Given the description of an element on the screen output the (x, y) to click on. 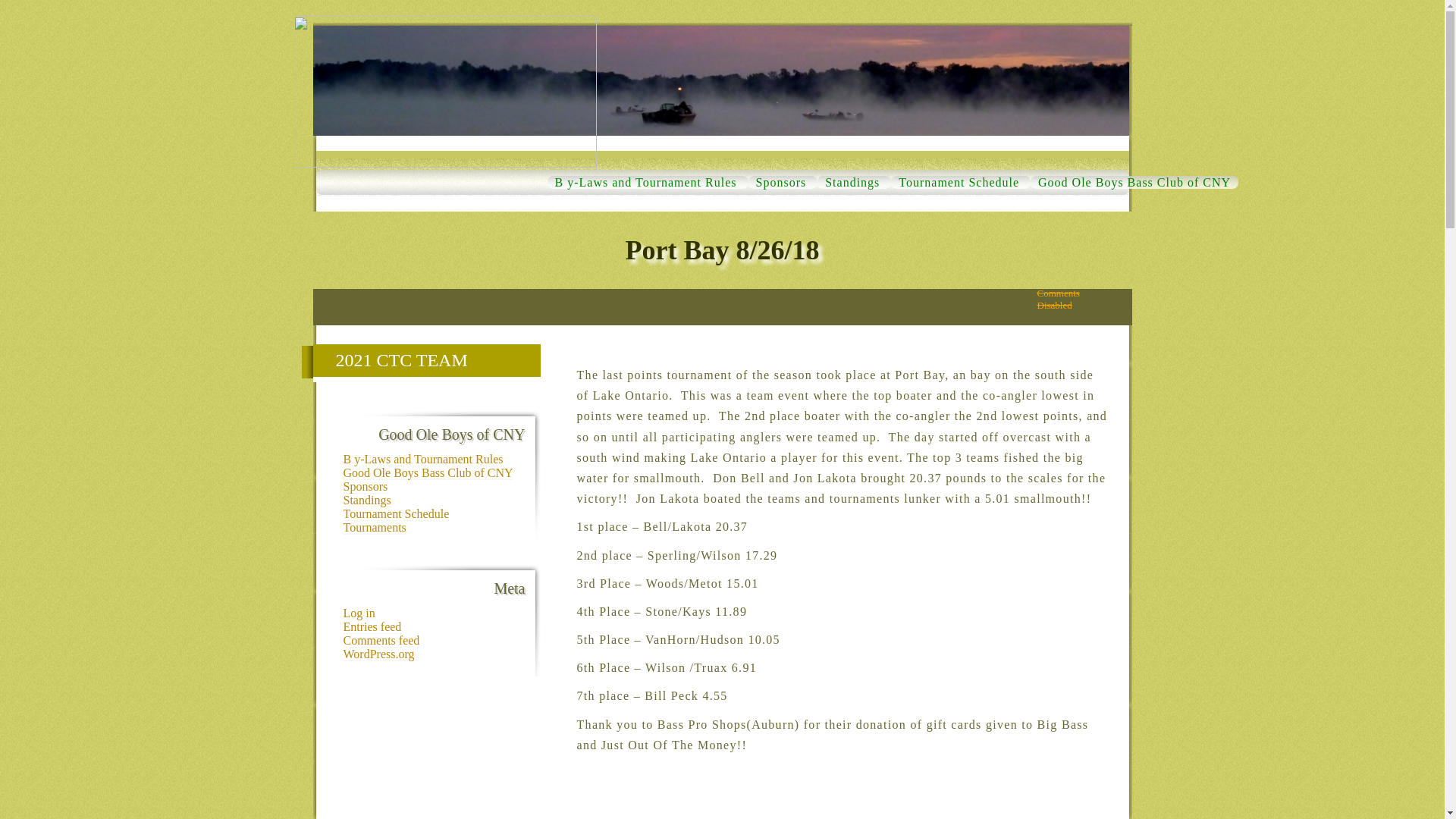
B y-Laws and Tournament Rules (422, 459)
Good Ole Boys Bass Club of CNY (1134, 182)
WordPress.org (377, 653)
Standings (852, 182)
Tournament Schedule (417, 359)
Entries feed (958, 182)
Good Ole Boys Bass Club of CNY (371, 626)
Sponsors (427, 472)
Standings (364, 486)
Tournament Schedule (366, 499)
Sponsors (395, 513)
B y-Laws and Tournament Rules (780, 182)
Tournaments (645, 182)
Comments feed (374, 527)
